Given the description of an element on the screen output the (x, y) to click on. 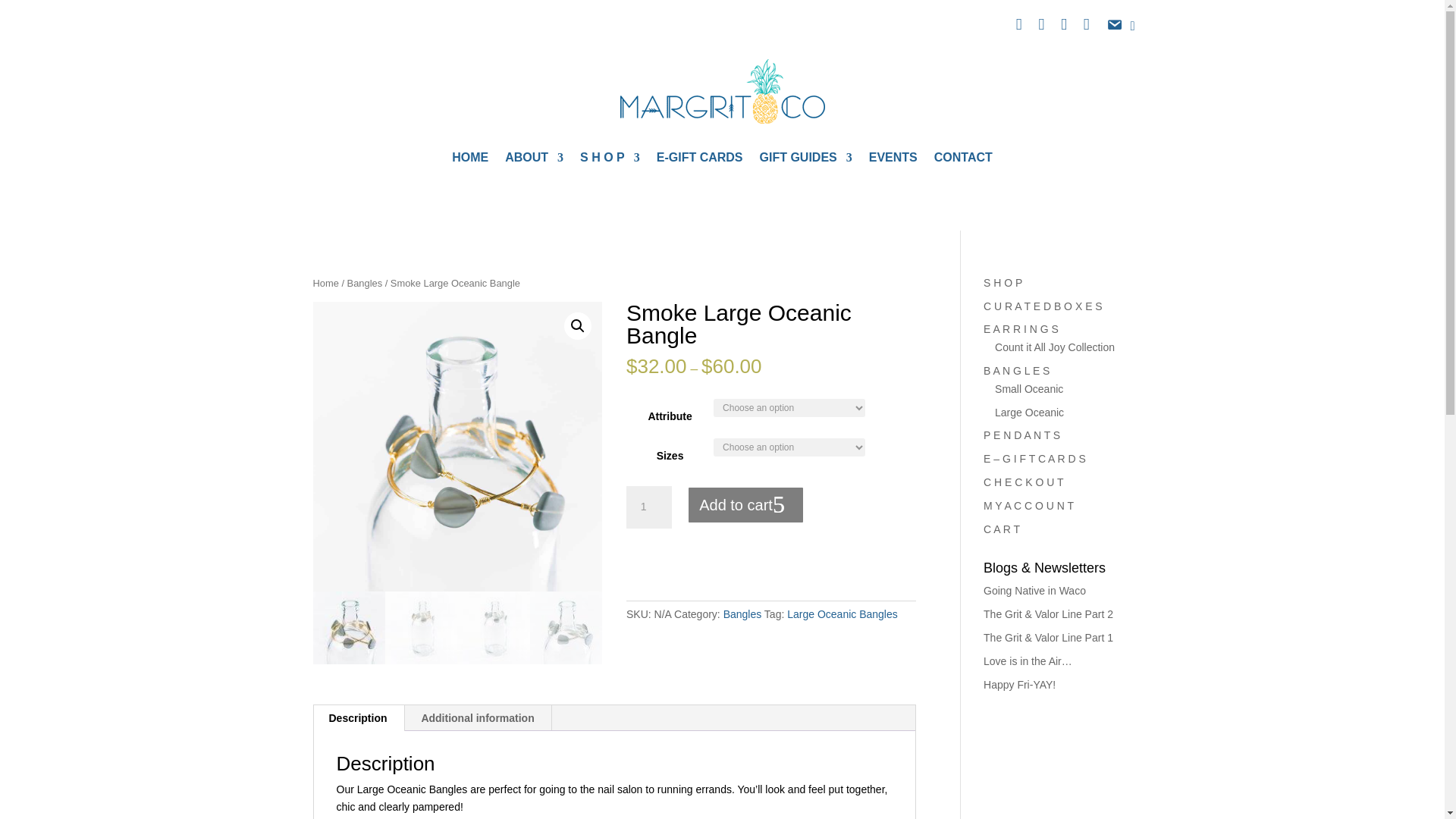
CONTACT (963, 160)
E-GIFT CARDS (699, 160)
S H O P (609, 160)
1 (648, 507)
EVENTS (893, 160)
GIFT GUIDES (805, 160)
HOME (469, 160)
PayPal (770, 566)
ABOUT (534, 160)
